Given the description of an element on the screen output the (x, y) to click on. 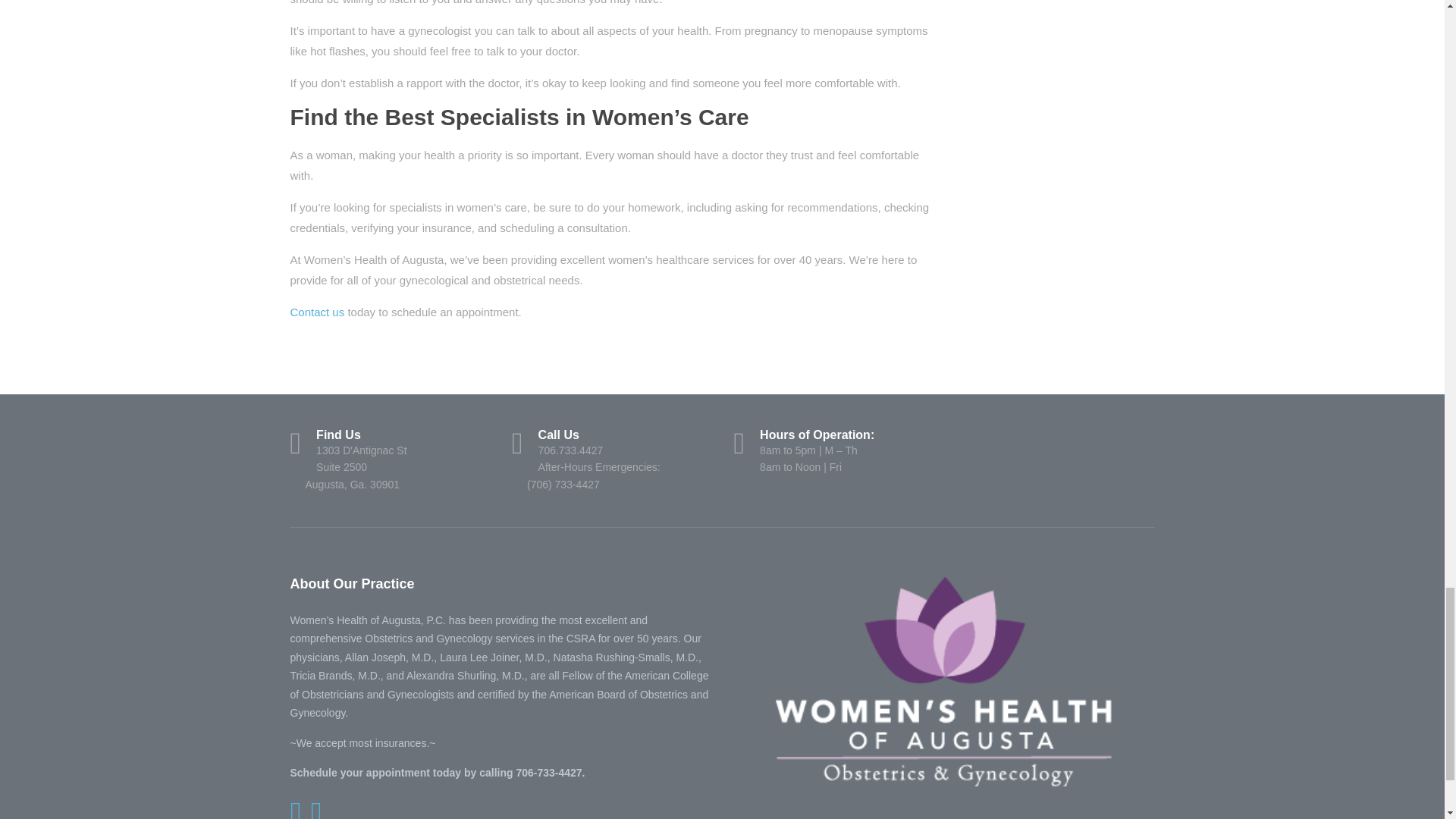
Contact us (389, 460)
